Given the description of an element on the screen output the (x, y) to click on. 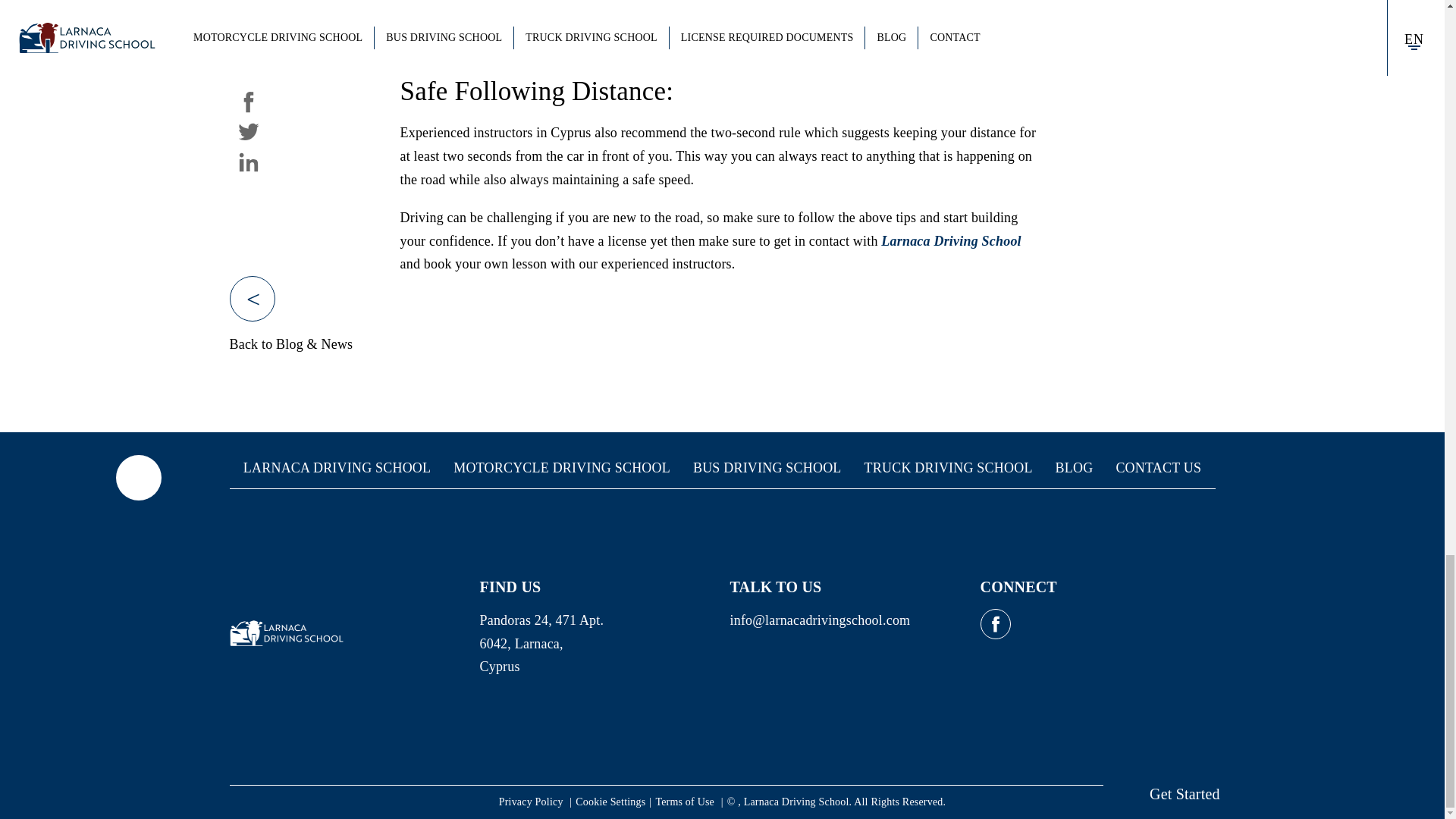
BLOG (1074, 467)
MOTORCYCLE DRIVING SCHOOL (560, 467)
Terms of Use (685, 801)
BUS DRIVING SCHOOL (767, 467)
Privacy Policy (532, 801)
Cookie Settings (610, 801)
Larnaca Driving School (950, 240)
TRUCK DRIVING SCHOOL (948, 467)
CONTACT US (1158, 467)
LARNACA DRIVING SCHOOL (336, 467)
Scroll top (137, 477)
